Given the description of an element on the screen output the (x, y) to click on. 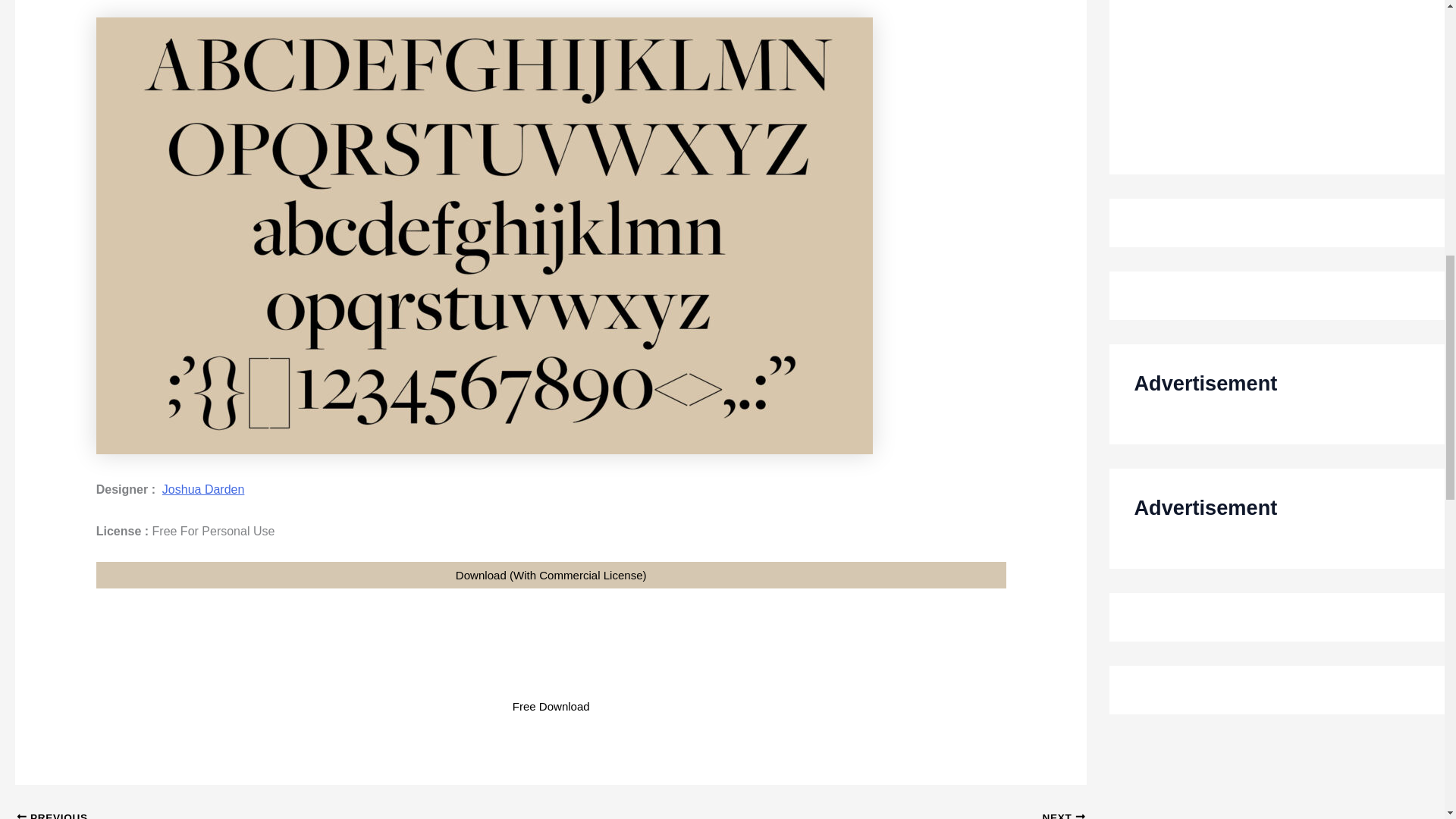
Free Download (870, 814)
The Paw Patrol Font Free Download (551, 705)
Jujutsu Kaisen Font Free Download (230, 814)
Joshua Darden (230, 814)
